Given the description of an element on the screen output the (x, y) to click on. 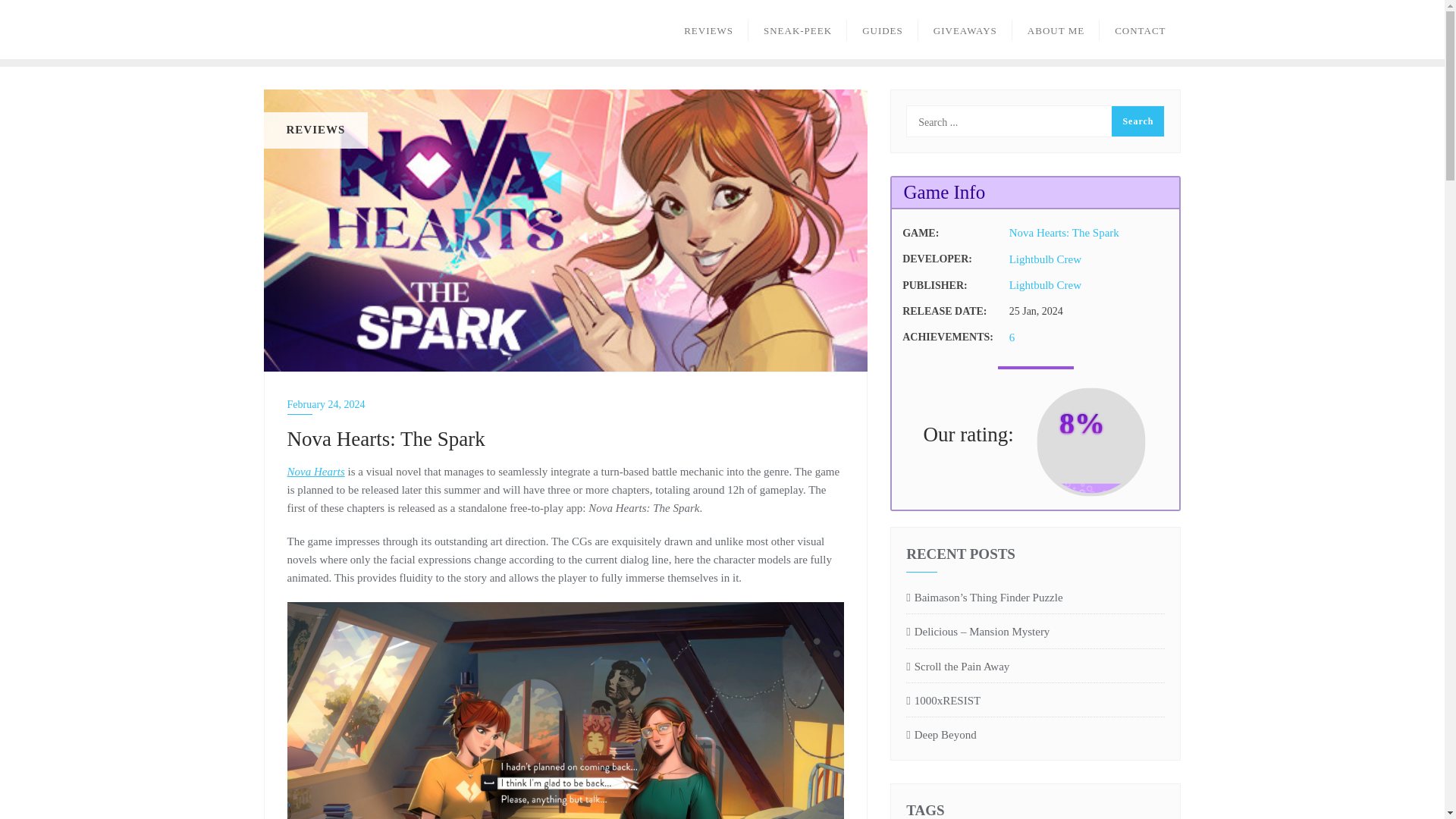
Nova Hearts (314, 471)
February 24, 2024 (565, 404)
GIVEAWAYS (964, 29)
SNEAK-PEEK (797, 29)
ABOUT ME (1055, 29)
Search (1137, 121)
GUIDES (882, 29)
CONTACT (1139, 29)
